Given the description of an element on the screen output the (x, y) to click on. 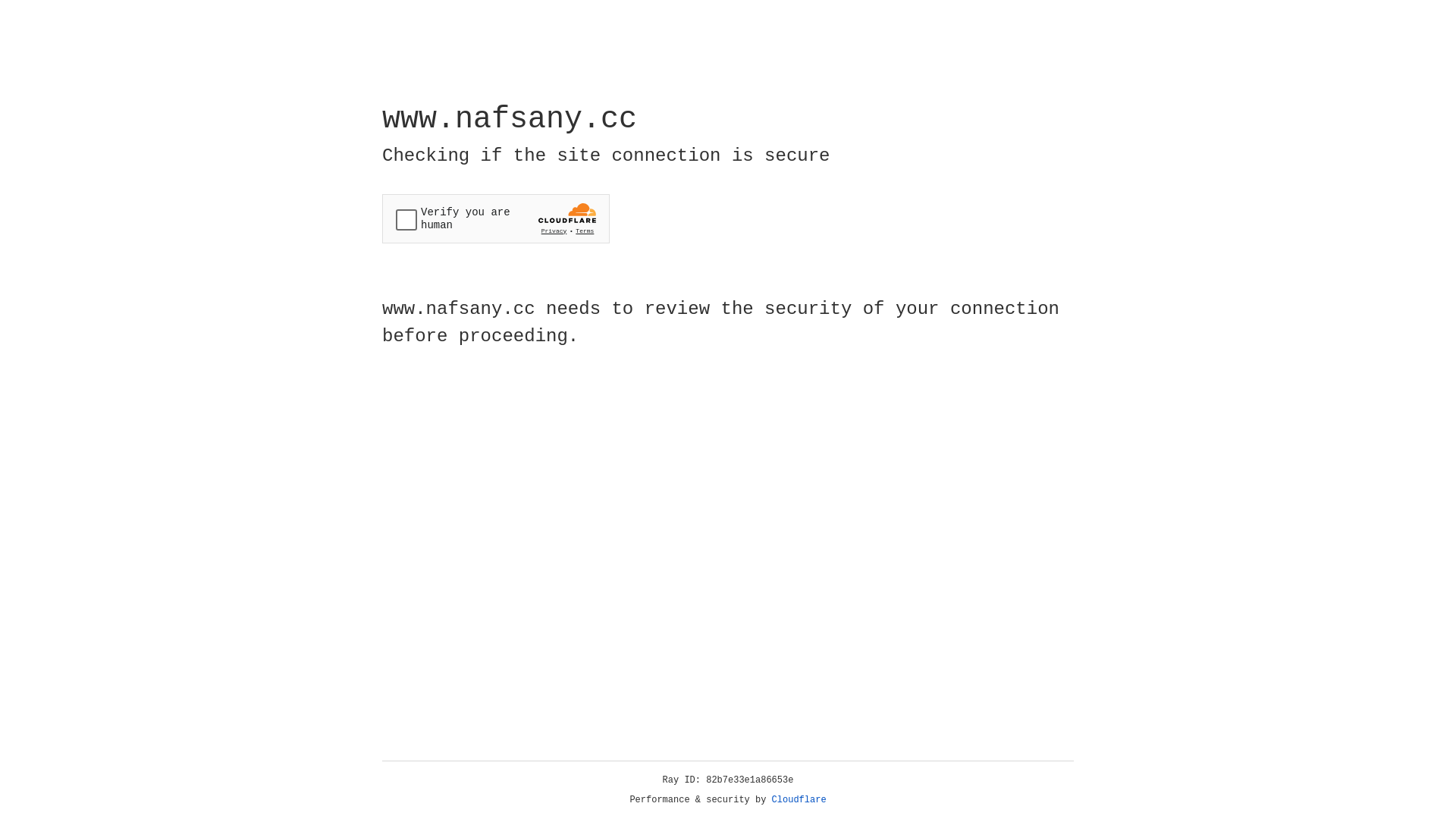
Widget containing a Cloudflare security challenge Element type: hover (495, 218)
Cloudflare Element type: text (798, 799)
